Given the description of an element on the screen output the (x, y) to click on. 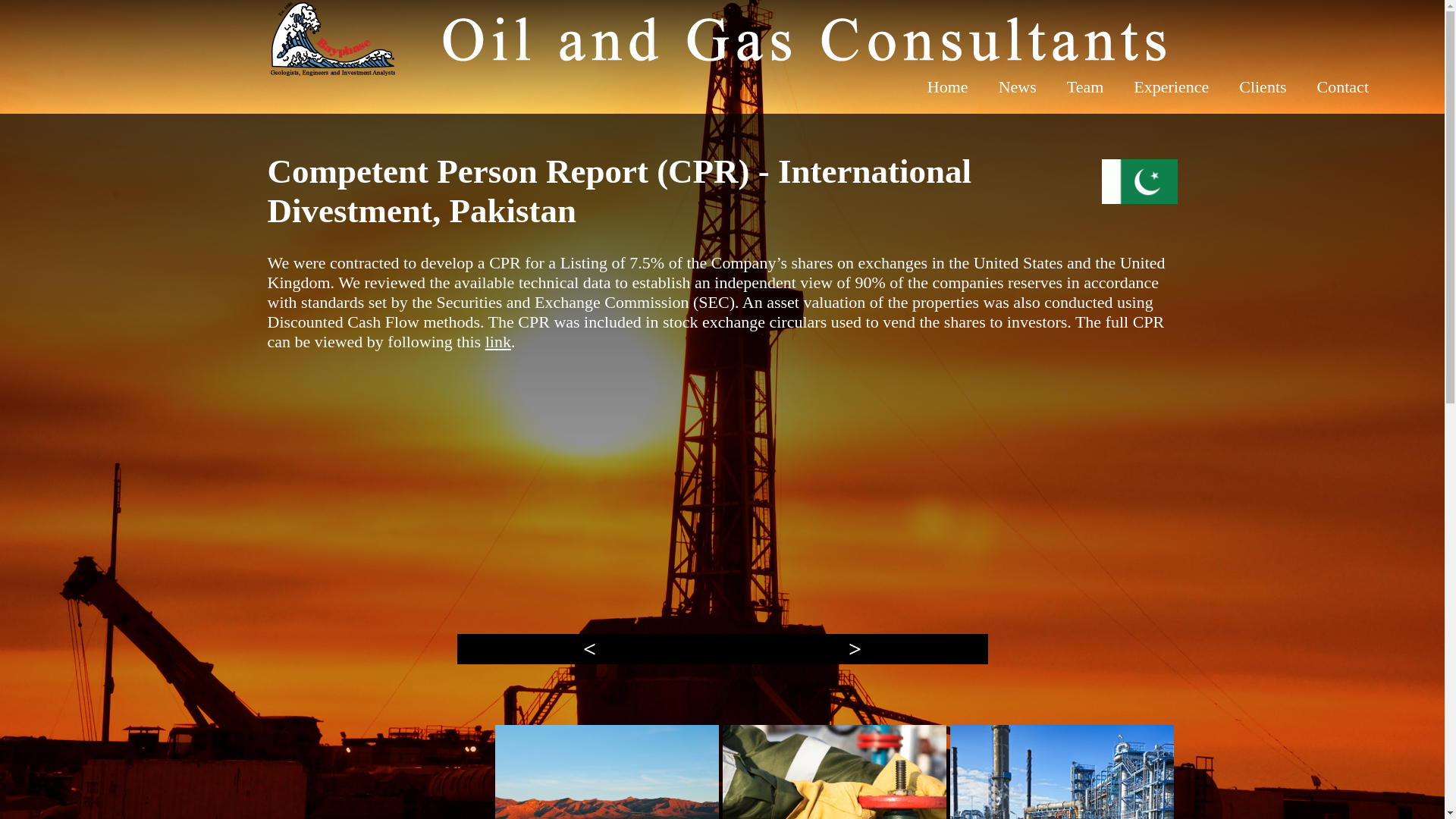
Team (1085, 87)
Experience (1171, 87)
Contact (1342, 87)
OGDCL CPR by Bayphase (497, 341)
News (1017, 87)
link (497, 341)
Clients (1262, 87)
Home (948, 87)
